Given the description of an element on the screen output the (x, y) to click on. 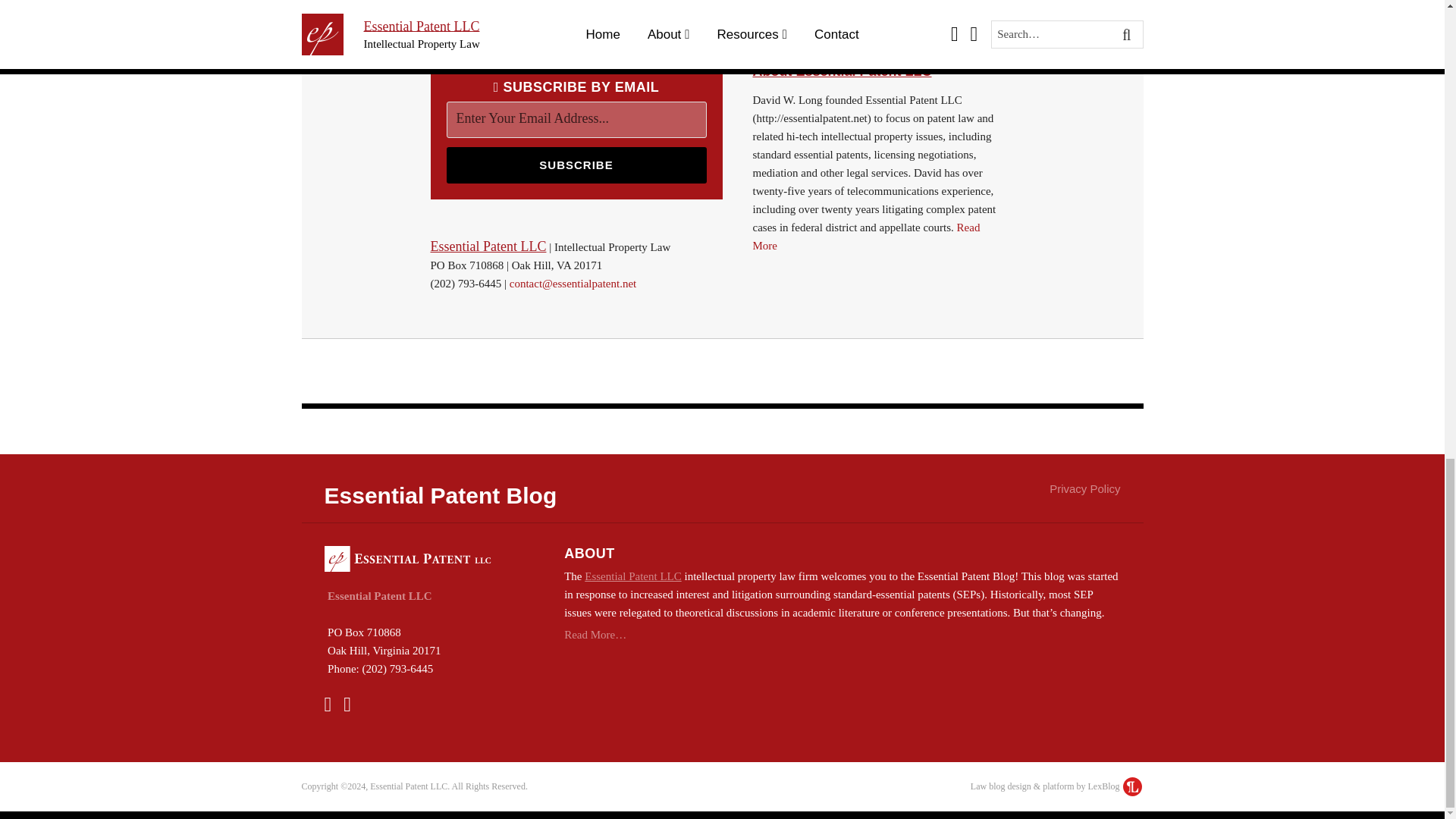
LexBlog Logo (1131, 786)
Subscribe (575, 165)
Subscribe (575, 165)
essentialpatent.net (877, 71)
About Essential Patent LLC (877, 71)
essentialpatent.net (488, 246)
essentialpatent.net (633, 576)
